Given the description of an element on the screen output the (x, y) to click on. 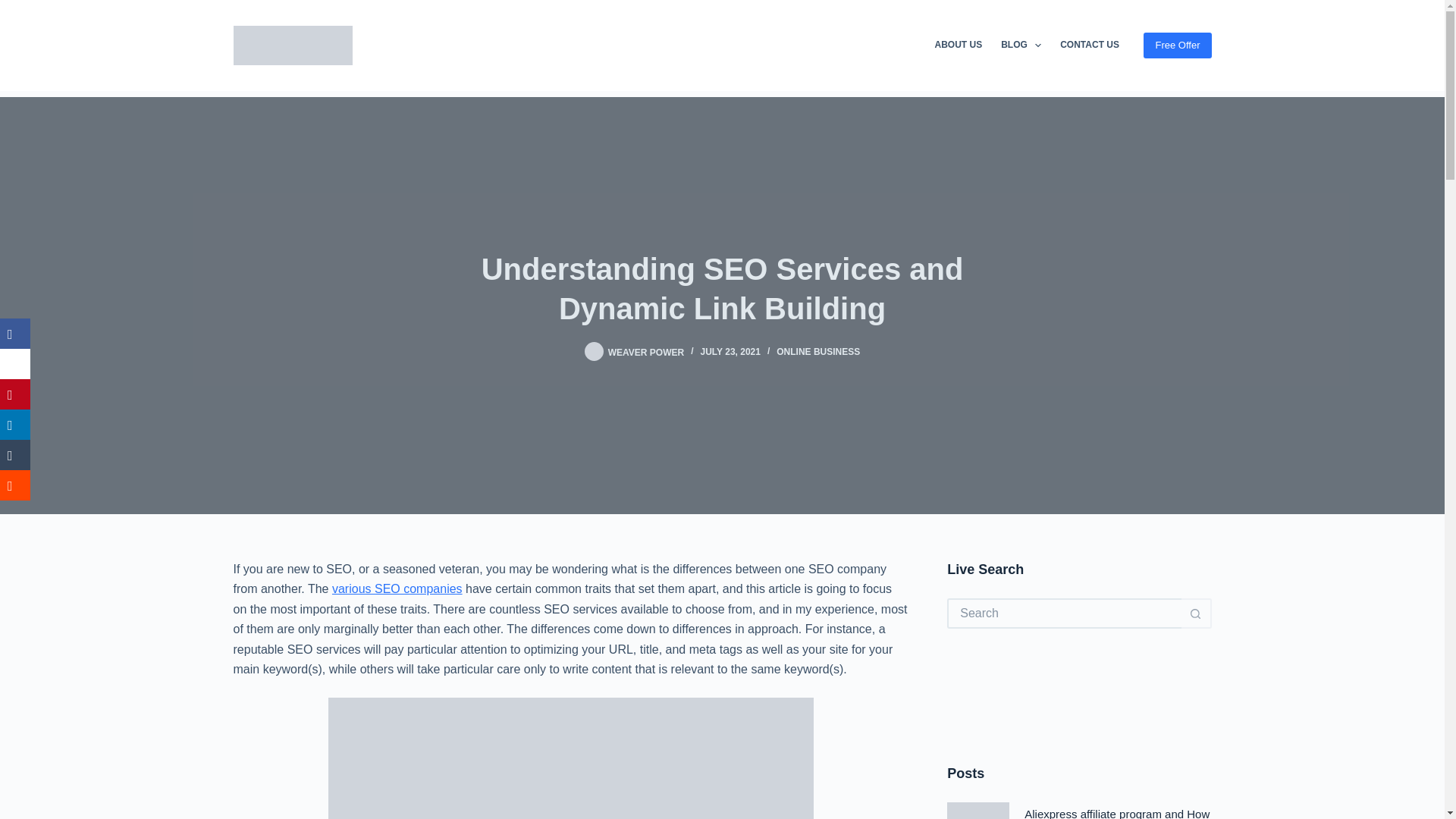
Free Offer (1176, 45)
Skip to content (15, 7)
WEAVER POWER (646, 351)
ABOUT US (957, 45)
various SEO companies (397, 588)
BLOG (1021, 45)
Understanding SEO Services and Dynamic Link Building (722, 287)
Search for... (1063, 613)
CONTACT US (1090, 45)
Posts by Weaver Power (646, 351)
ONLINE BUSINESS (818, 351)
